Given the description of an element on the screen output the (x, y) to click on. 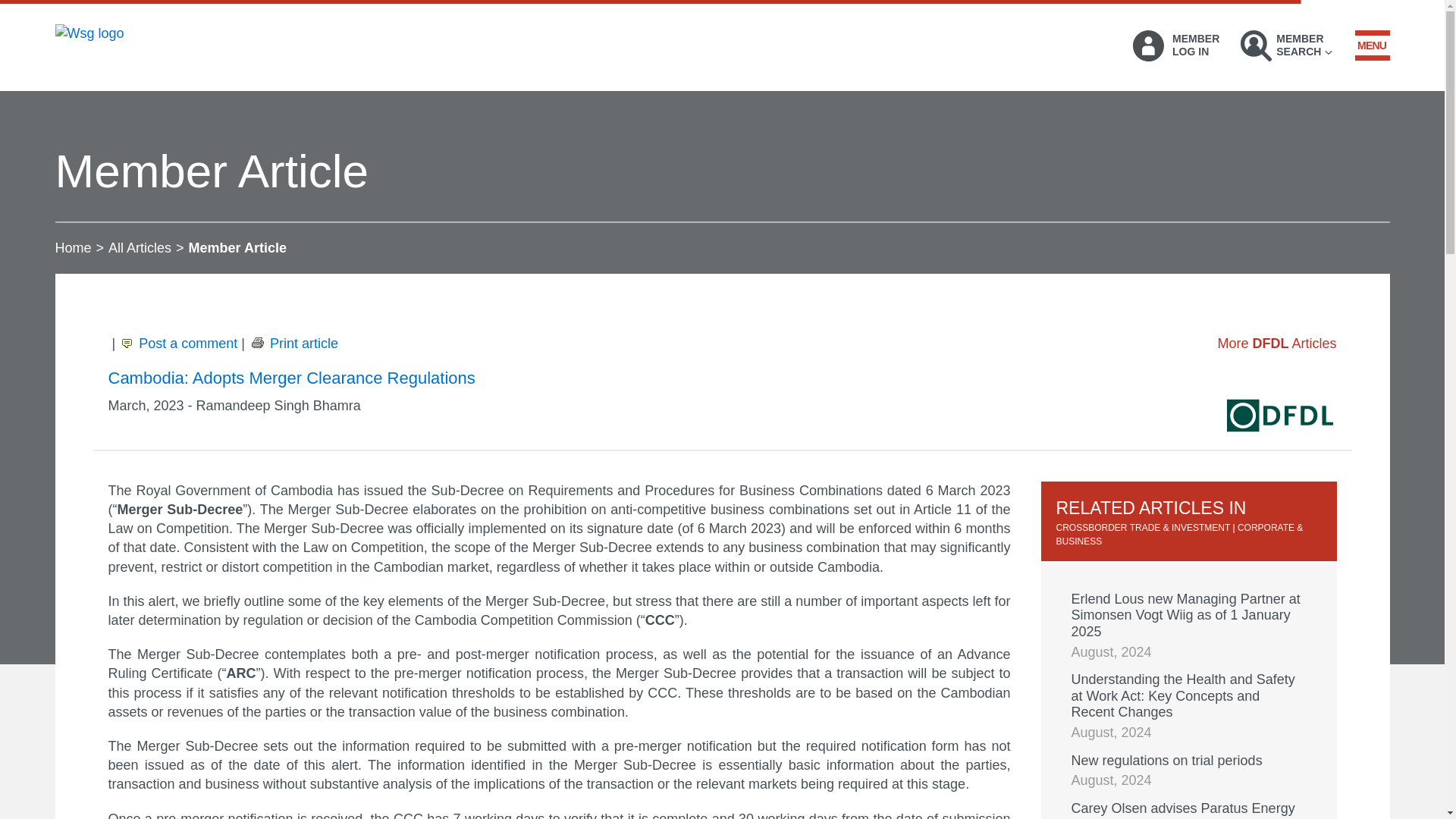
Toggle Menu (1371, 45)
MENU (1371, 45)
Post a comment (178, 343)
All Articles (139, 247)
More DFDL Articles (1276, 343)
Print article (292, 343)
Home (72, 247)
